Given the description of an element on the screen output the (x, y) to click on. 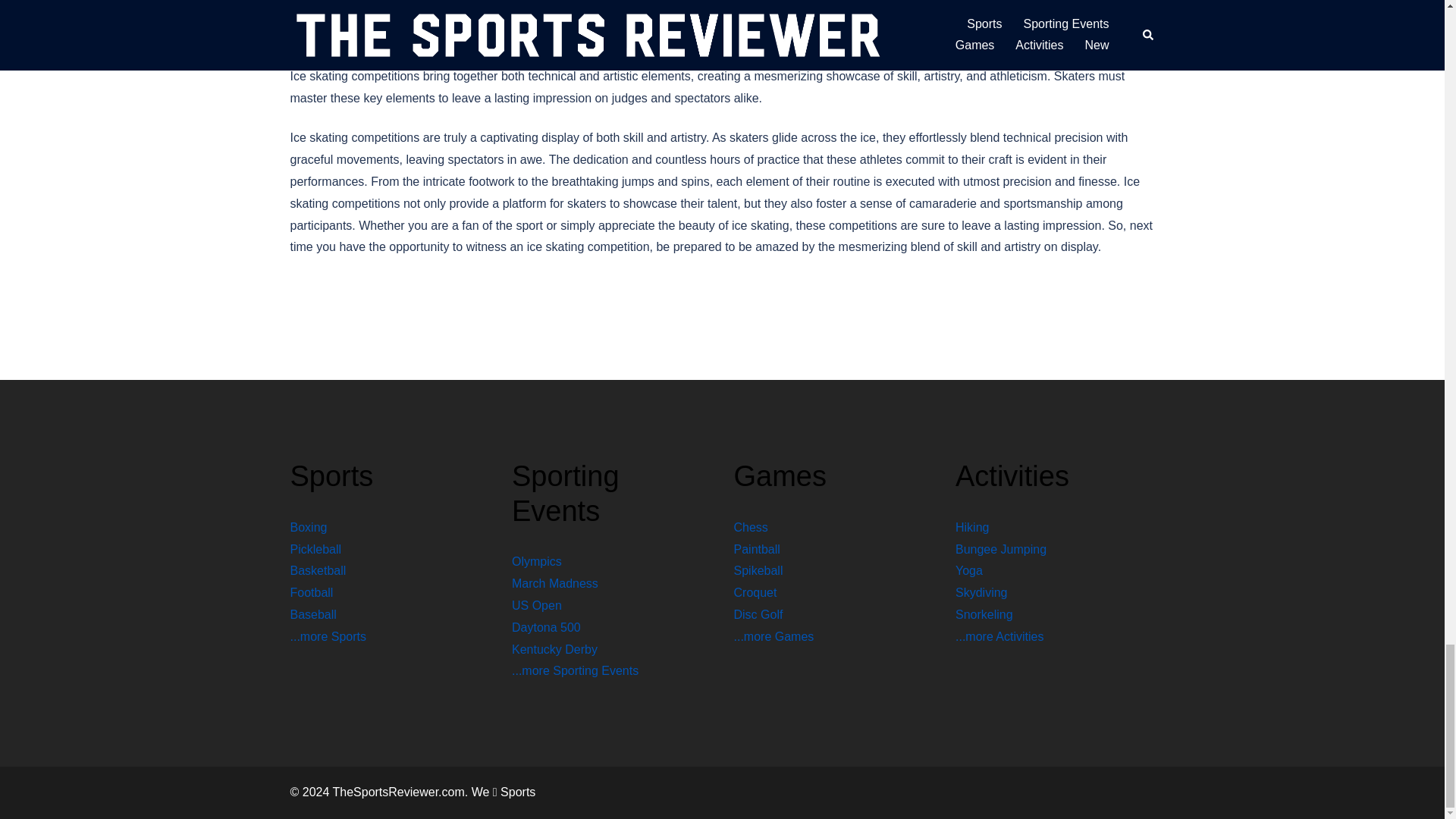
Football (311, 592)
Olympics (537, 561)
Disc Golf (758, 614)
Croquet (755, 592)
Baseball (312, 614)
Daytona 500 (546, 626)
...more Games (773, 635)
Snorkeling (984, 614)
US Open (537, 604)
Paintball (756, 549)
...more Sports (327, 635)
Bungee Jumping (1000, 549)
Hiking (971, 526)
Spikeball (758, 570)
Pickleball (314, 549)
